Given the description of an element on the screen output the (x, y) to click on. 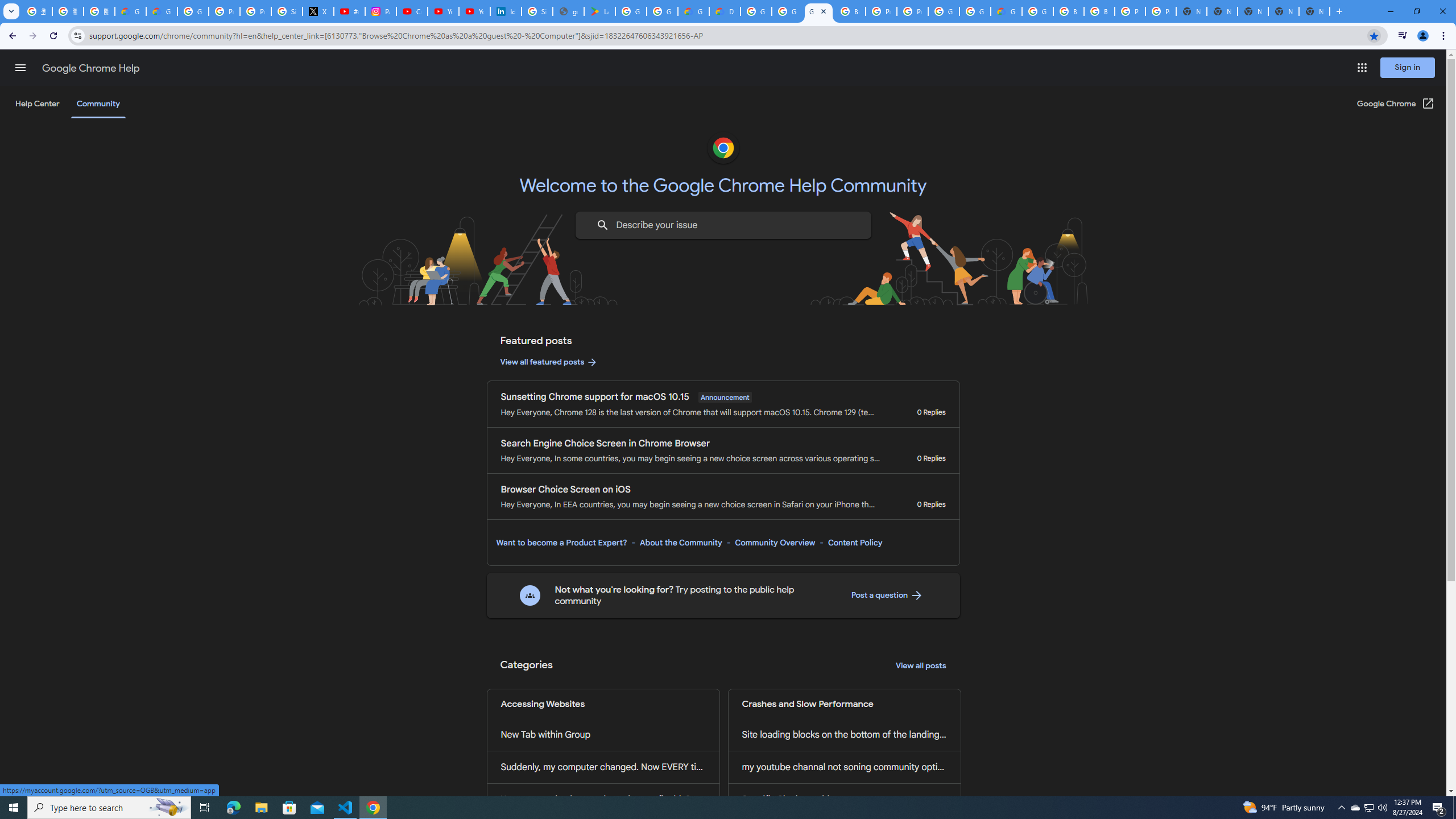
View all featured posts (548, 361)
#nbabasketballhighlights - YouTube (349, 11)
Government | Google Cloud (693, 11)
View all posts (920, 665)
X (318, 11)
